Given the description of an element on the screen output the (x, y) to click on. 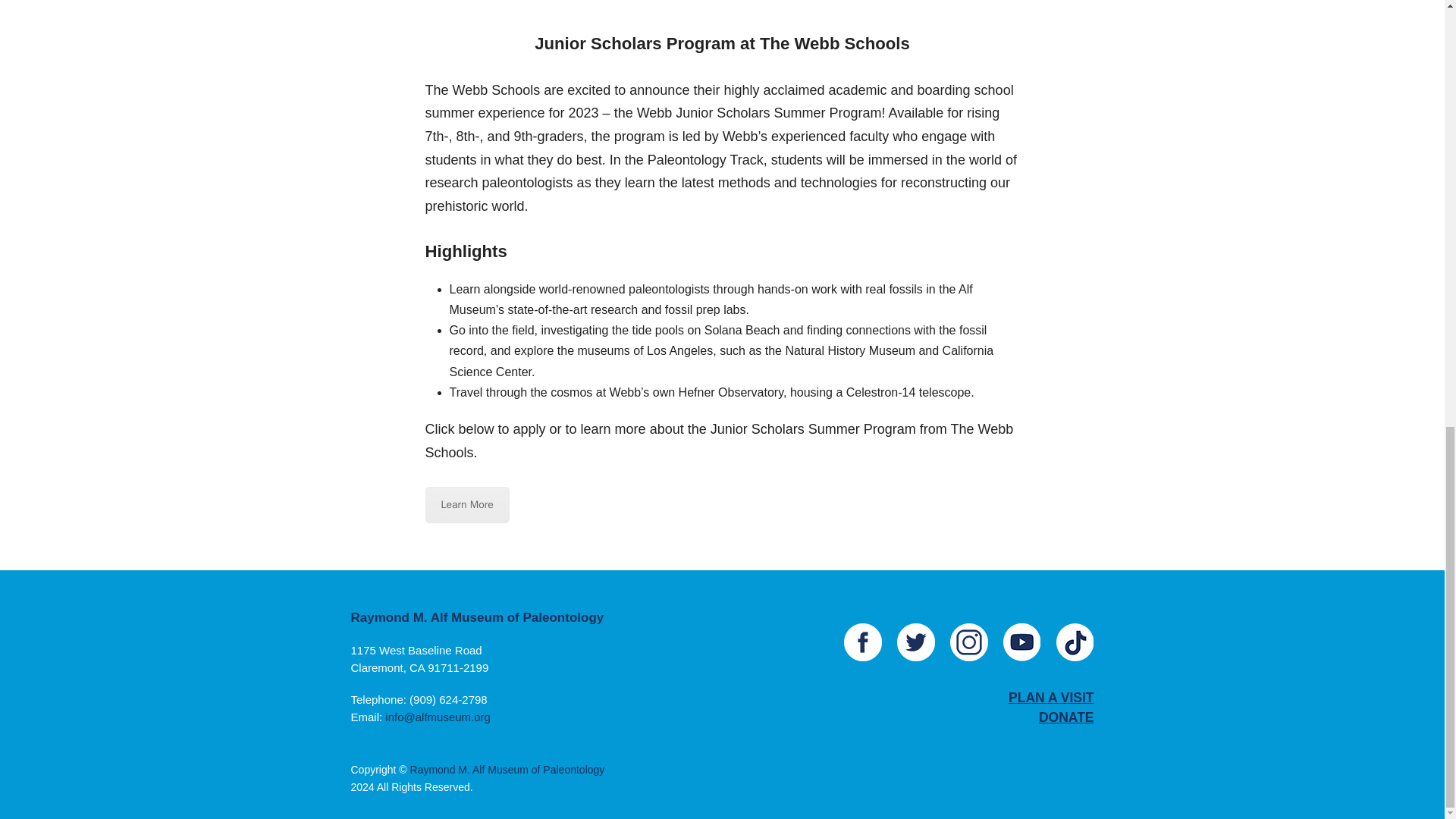
Junior Scholars Summer Program (466, 504)
PLAN A VISIT (1051, 697)
Raymond M. Alf Museum of Paleontology (507, 769)
Learn More (466, 504)
DONATE (1066, 717)
